Given the description of an element on the screen output the (x, y) to click on. 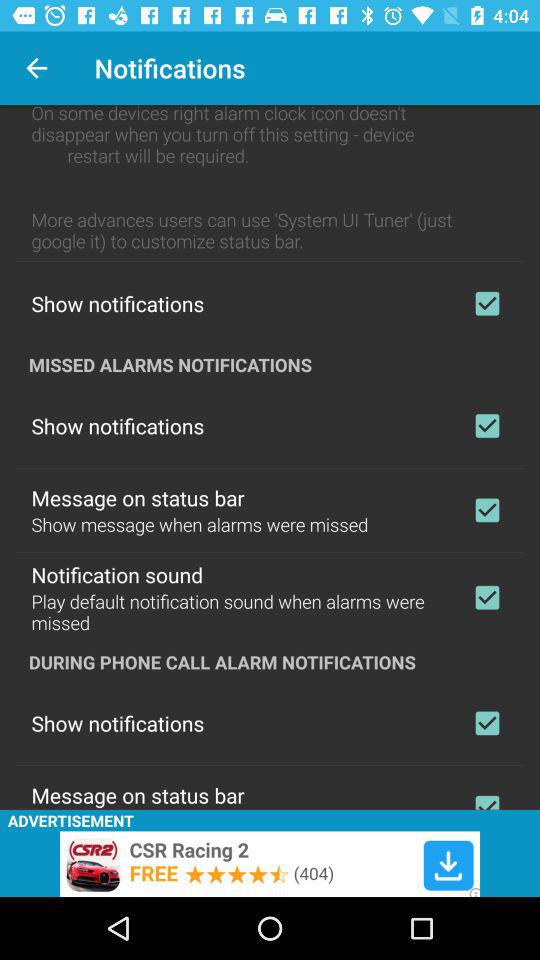
toggle enable/disable sound notification (487, 597)
